Given the description of an element on the screen output the (x, y) to click on. 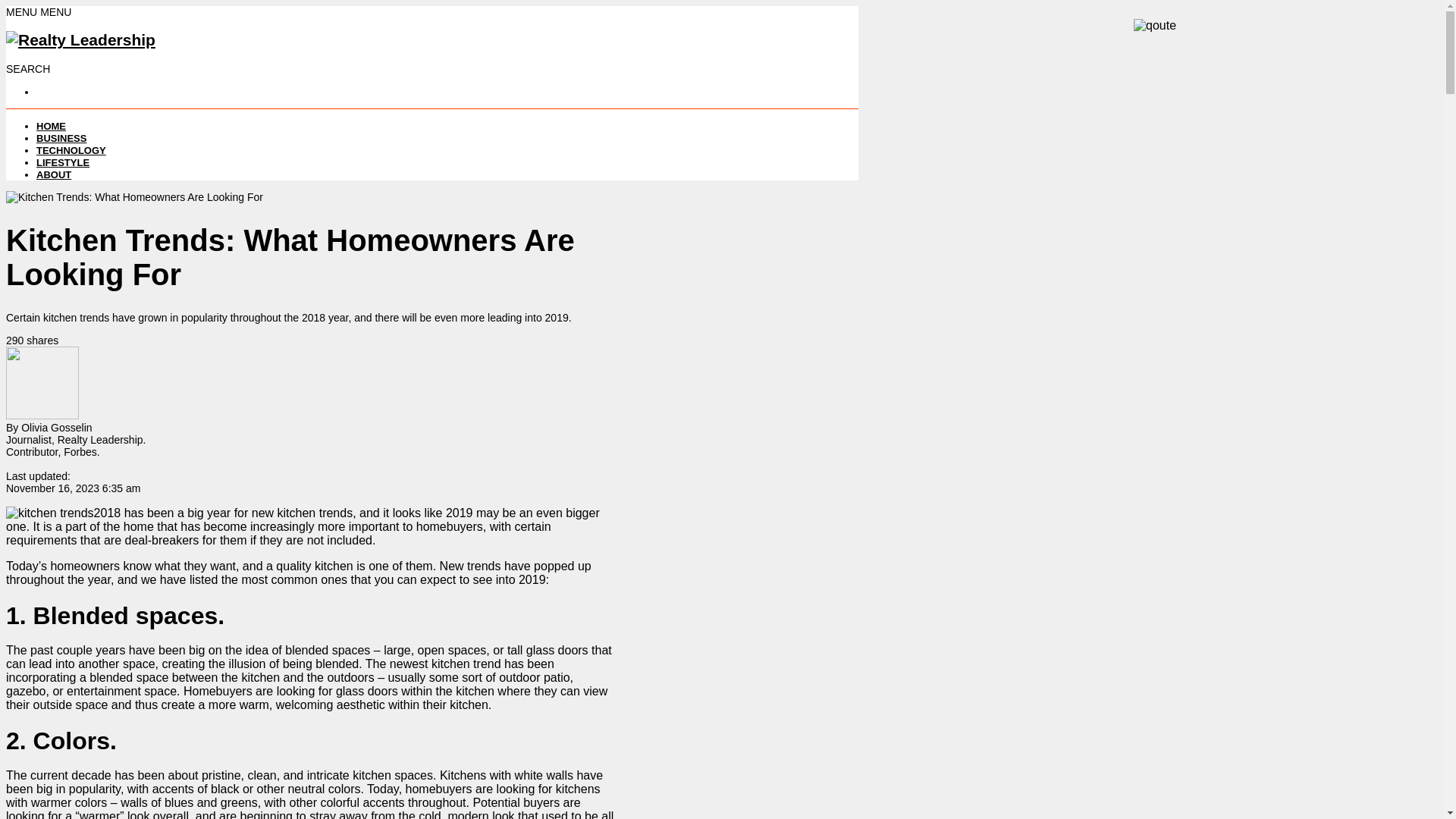
MENU (55, 11)
TECHNOLOGY (71, 150)
MENU (22, 11)
HOME (50, 125)
BUSINESS (60, 138)
October 31, 2023 1:48 pm (72, 488)
ABOUT (53, 174)
SEARCH (27, 69)
Kitchen Trends: What Homeowners Are Looking For (134, 196)
LIFESTYLE (62, 162)
